Given the description of an element on the screen output the (x, y) to click on. 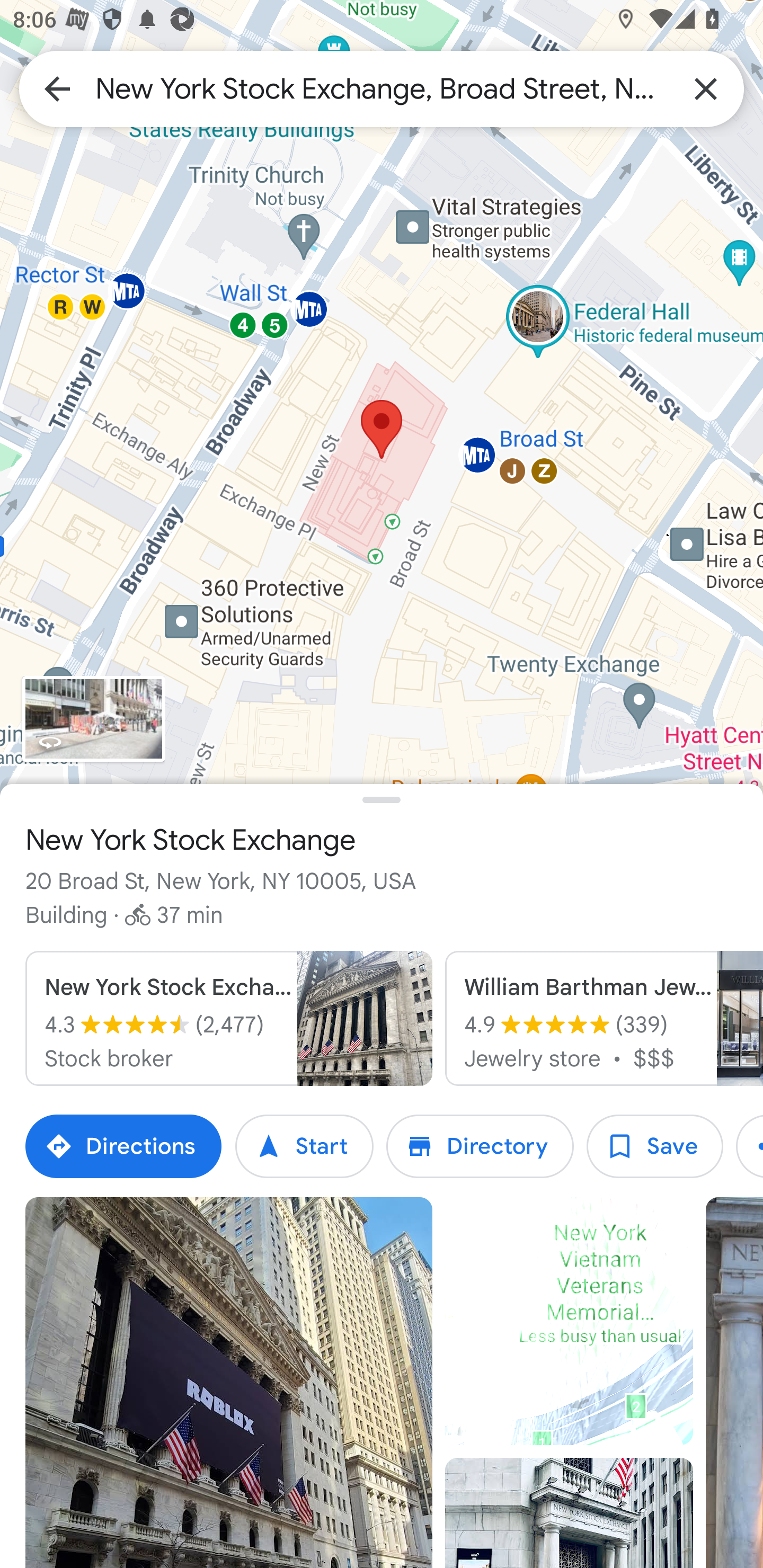
Back (57, 88)
Clear (705, 88)
Start Start Start (304, 1145)
Directory Directory Directory (479, 1145)
Photo (228, 1382)
Video (568, 1321)
